Given the description of an element on the screen output the (x, y) to click on. 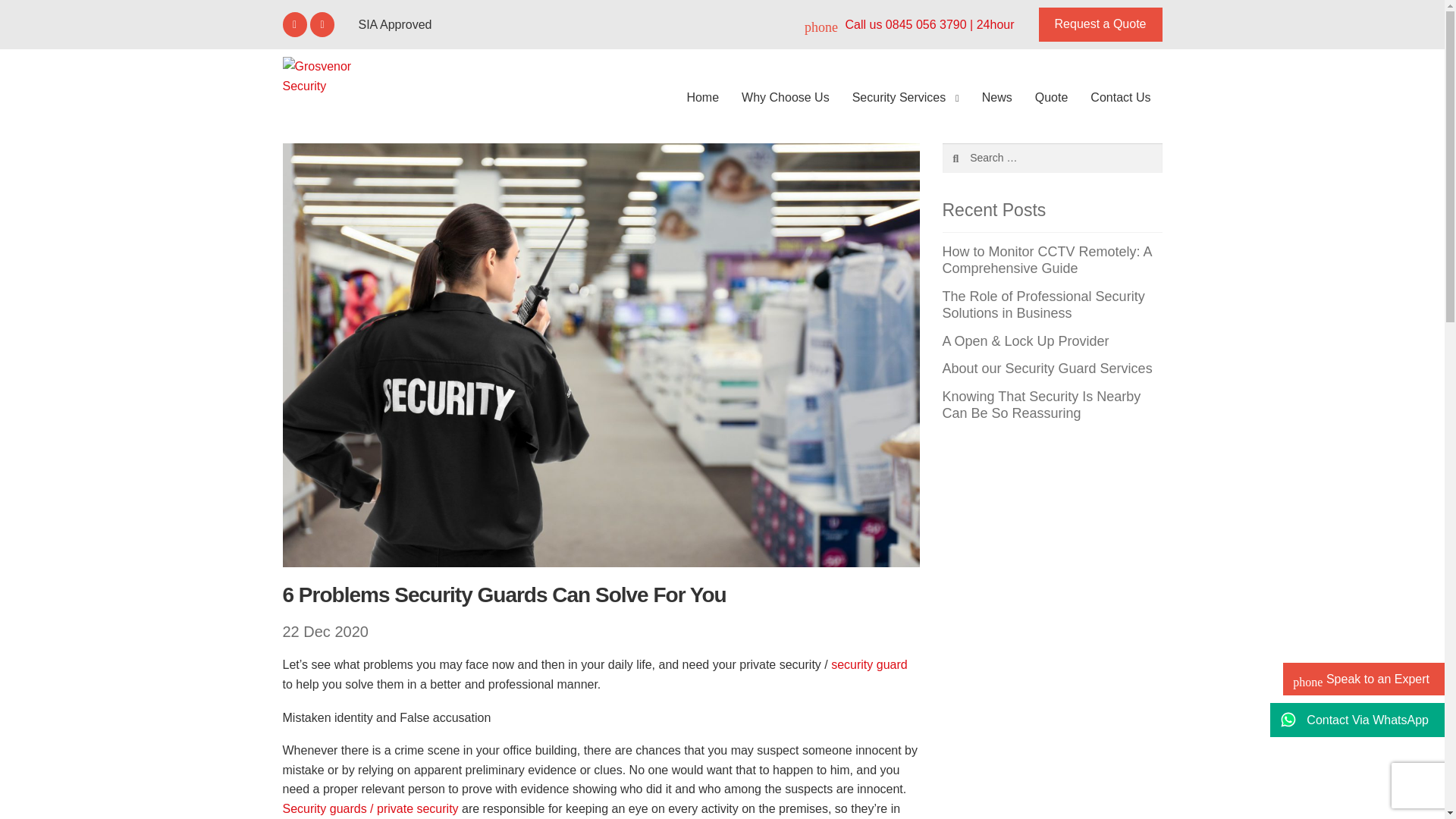
Quote (1051, 97)
Home (702, 97)
News (997, 97)
Security Services (906, 98)
Contact Us (1119, 97)
Request a Quote (1100, 24)
Why Choose Us (785, 97)
